Given the description of an element on the screen output the (x, y) to click on. 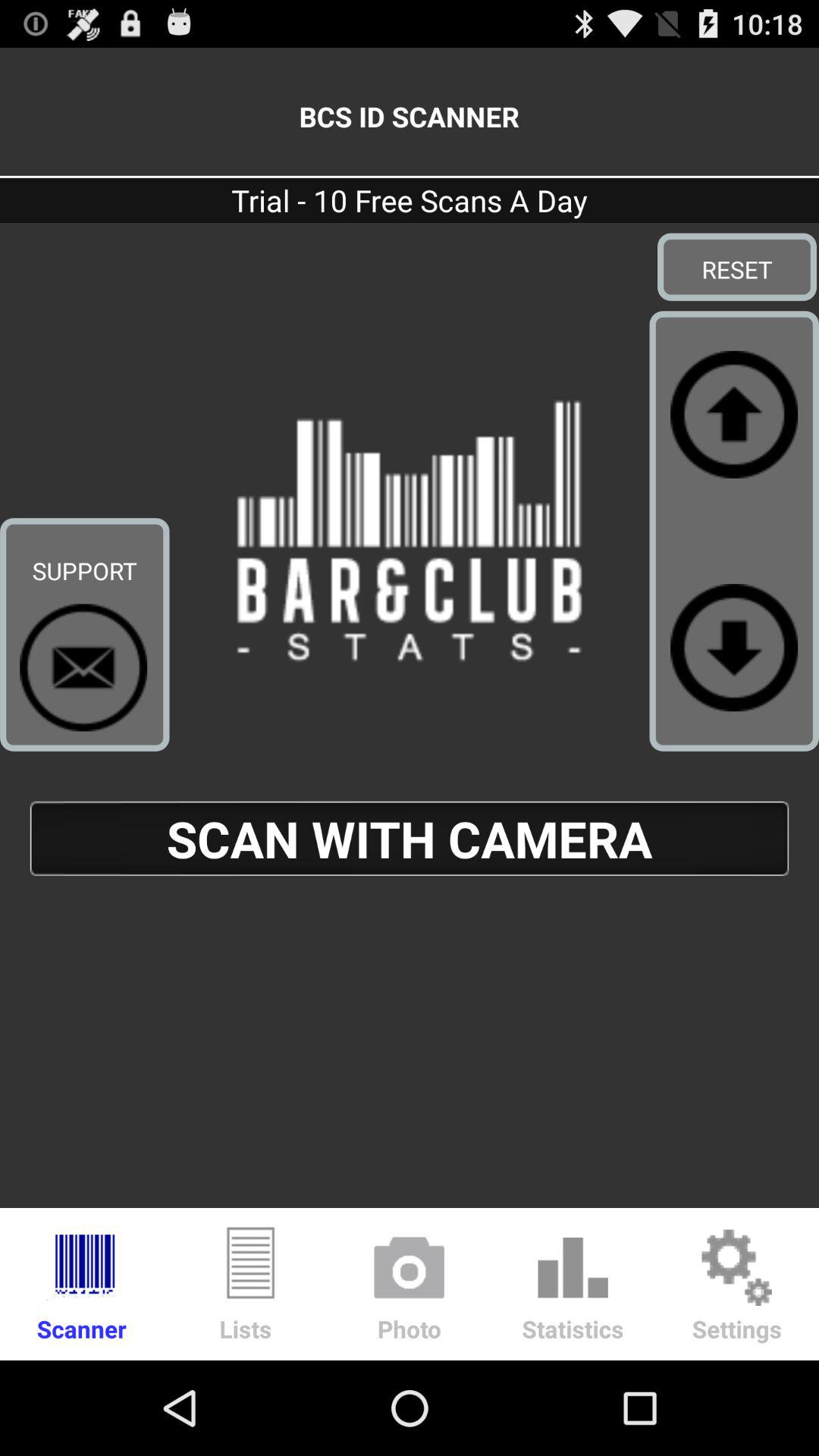
go down (734, 647)
